Given the description of an element on the screen output the (x, y) to click on. 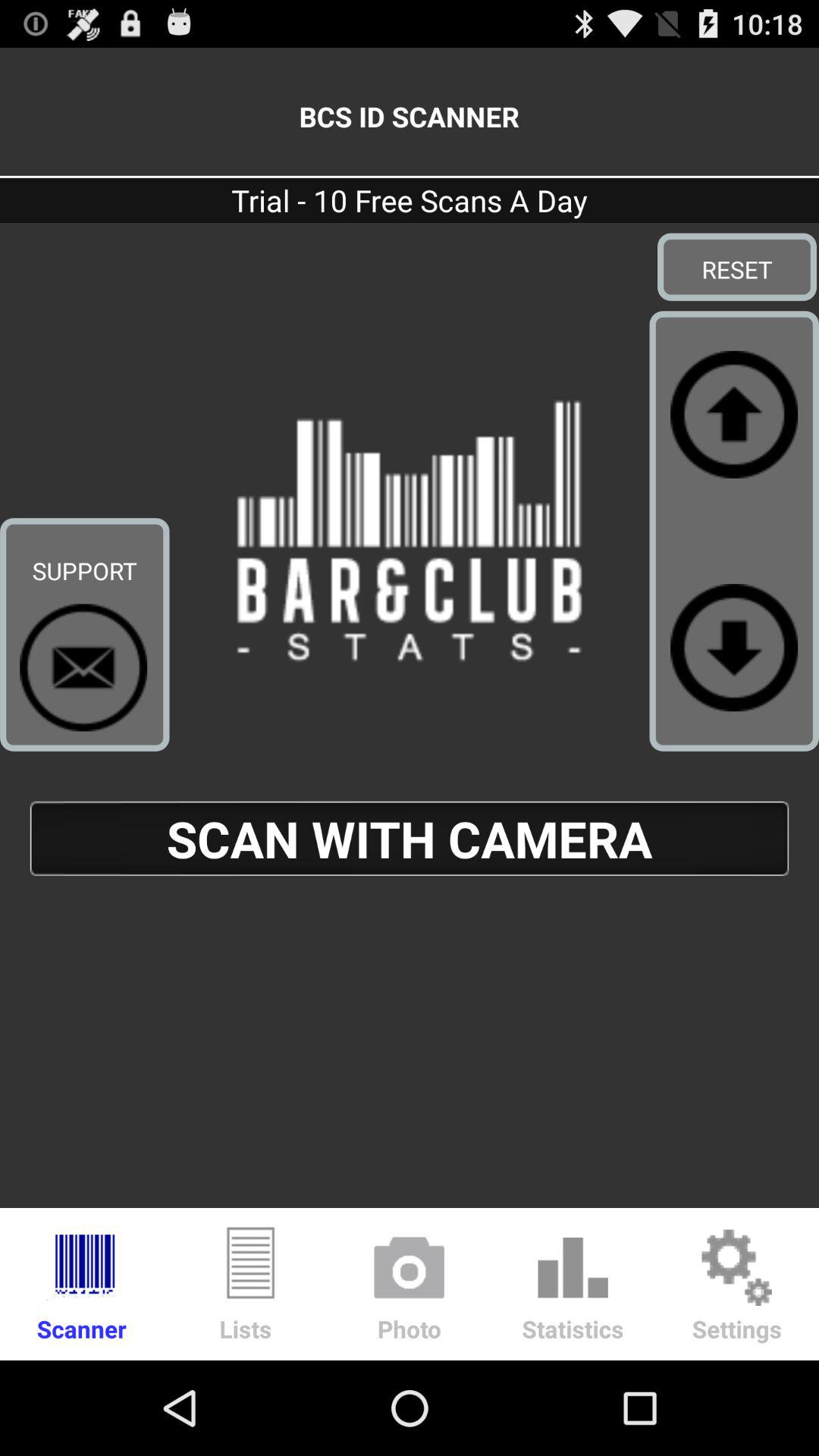
go down (734, 647)
